Given the description of an element on the screen output the (x, y) to click on. 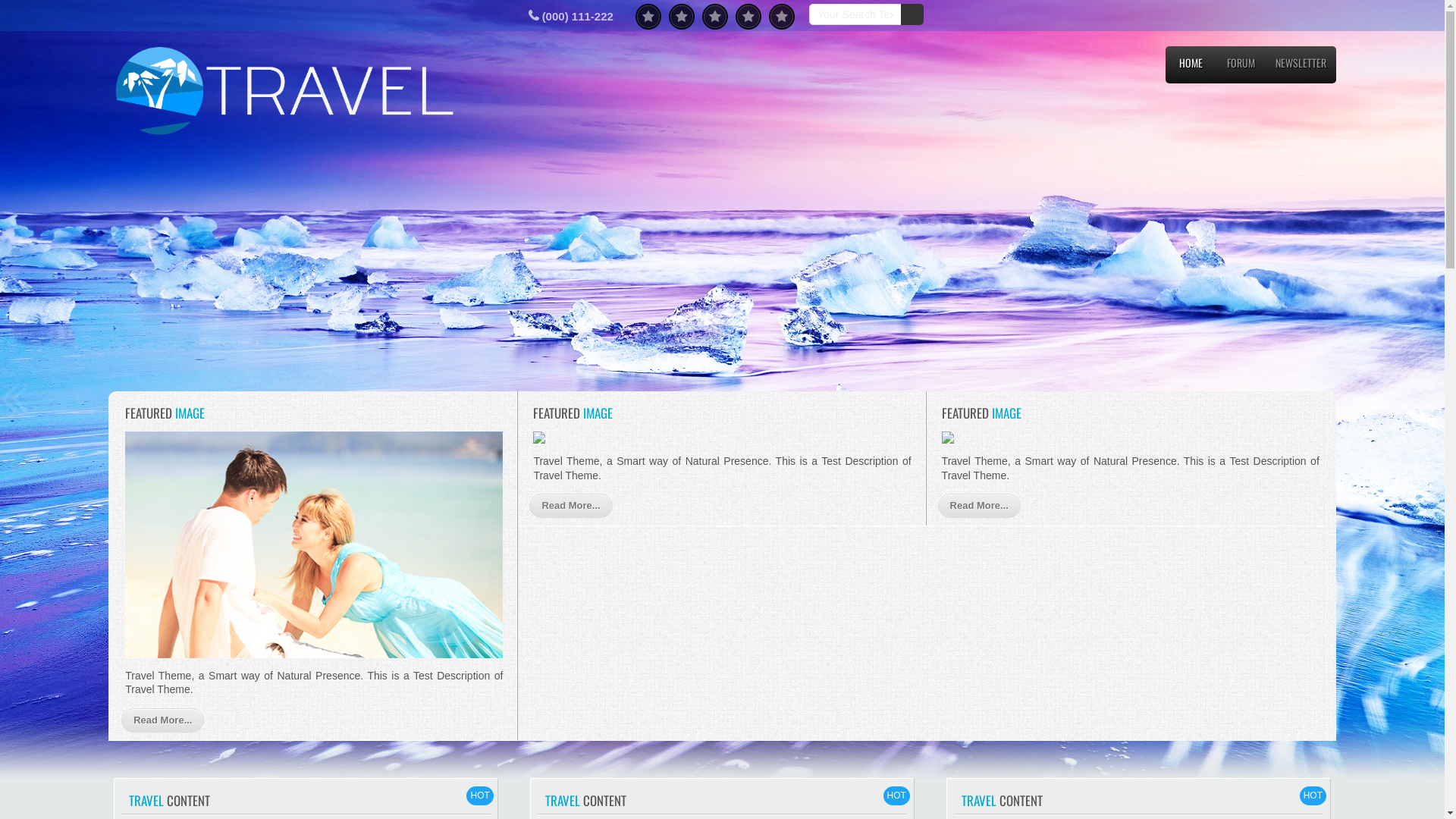
THIS IS A TEST IMAGE FOR TRAVEL THEME Element type: text (722, 281)
HOME Element type: text (1190, 66)
Search Element type: text (911, 14)
NEWSLETTER Element type: text (1300, 66)
Next Element type: text (1430, 397)
Previous Element type: text (14, 397)
FORUM Element type: text (1240, 66)
